Given the description of an element on the screen output the (x, y) to click on. 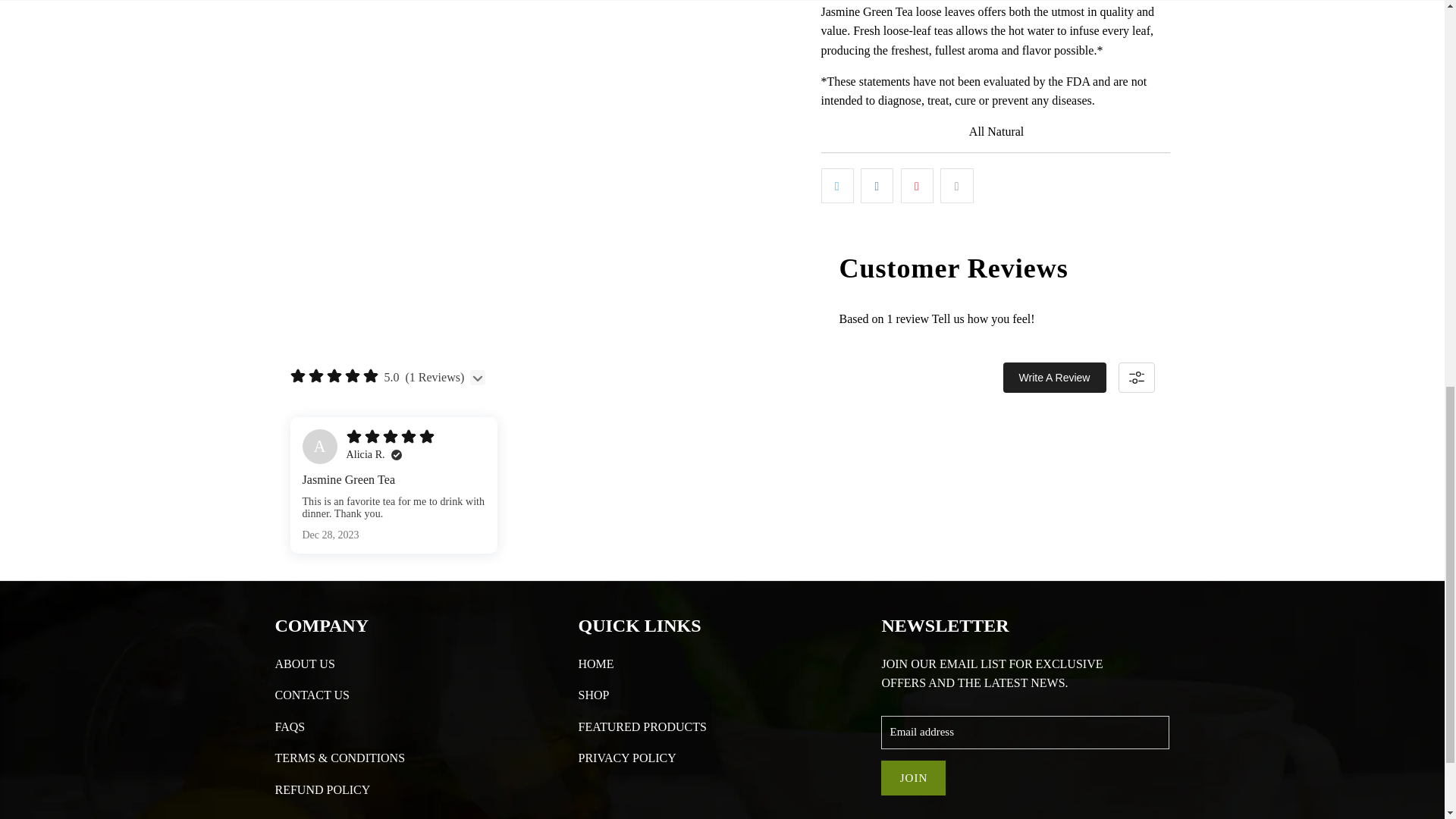
Share this on Twitter (837, 185)
Share this on Facebook (876, 185)
Join (912, 777)
Email this to a friend (956, 185)
Share this on Pinterest (917, 185)
